Given the description of an element on the screen output the (x, y) to click on. 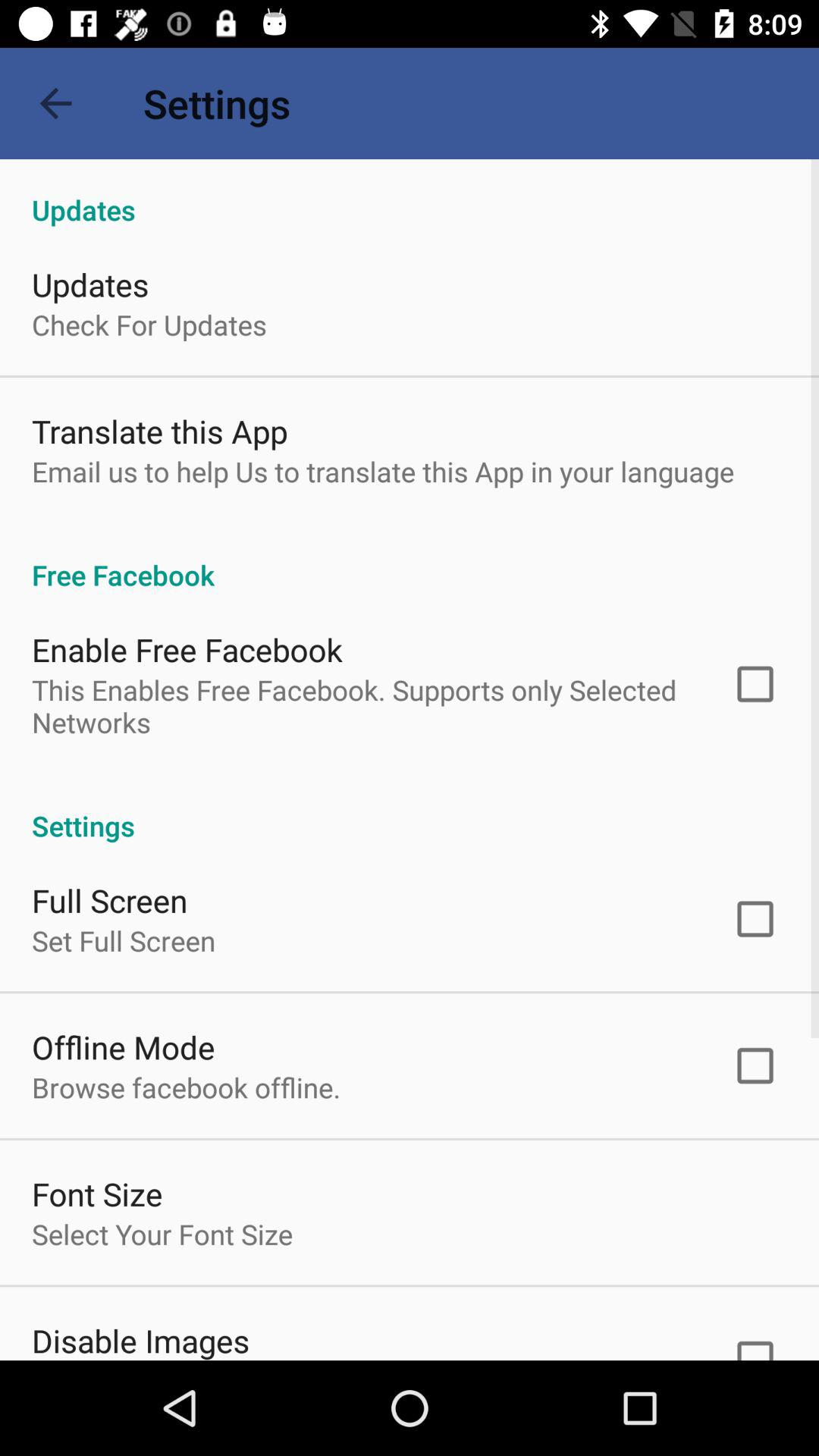
turn on the item below the select your font app (140, 1339)
